Given the description of an element on the screen output the (x, y) to click on. 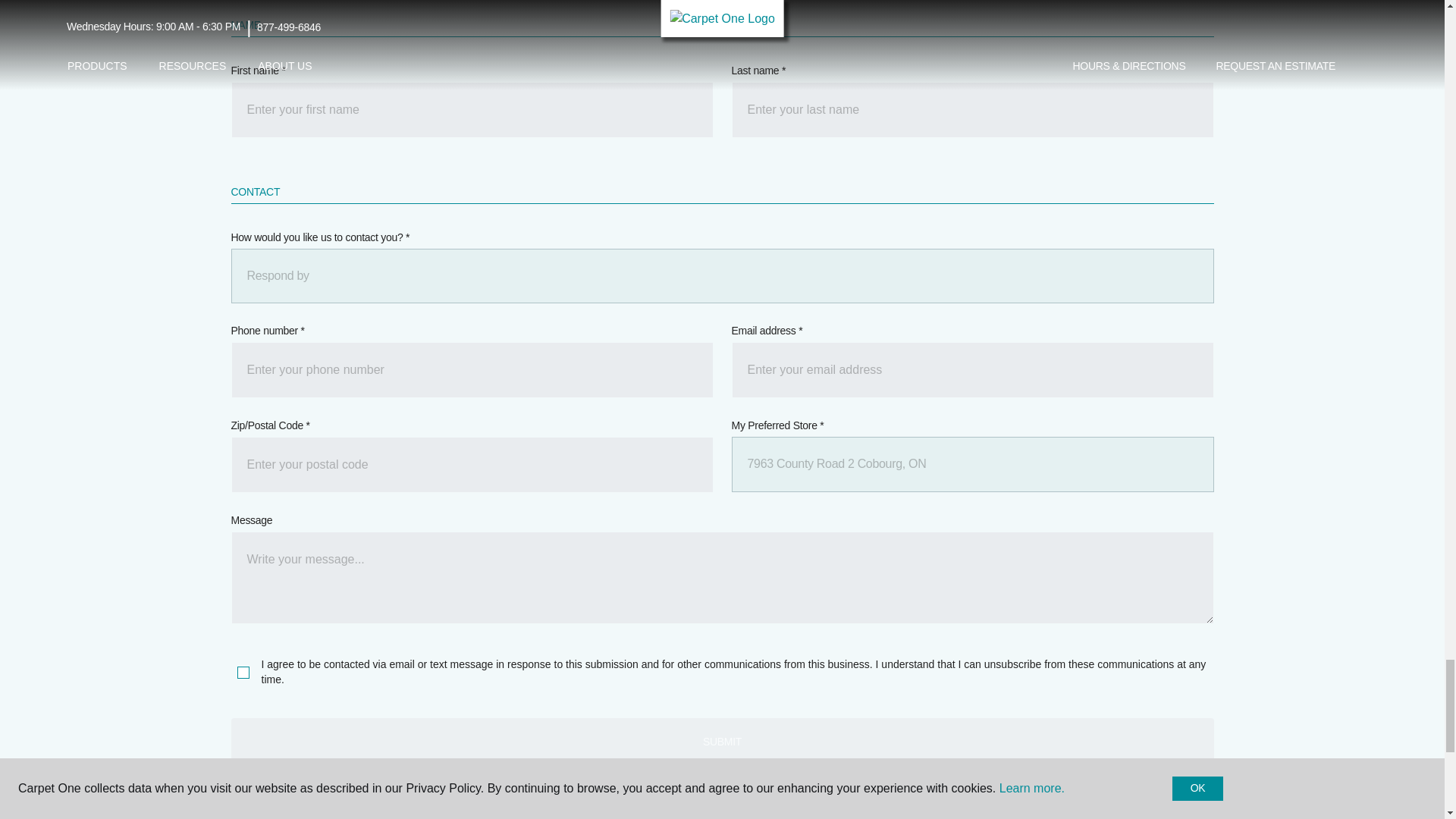
PostalCode (471, 464)
EmailAddress (971, 370)
CleanHomePhone (471, 370)
FirstName (471, 109)
LastName (971, 109)
MyMessage (721, 577)
